Given the description of an element on the screen output the (x, y) to click on. 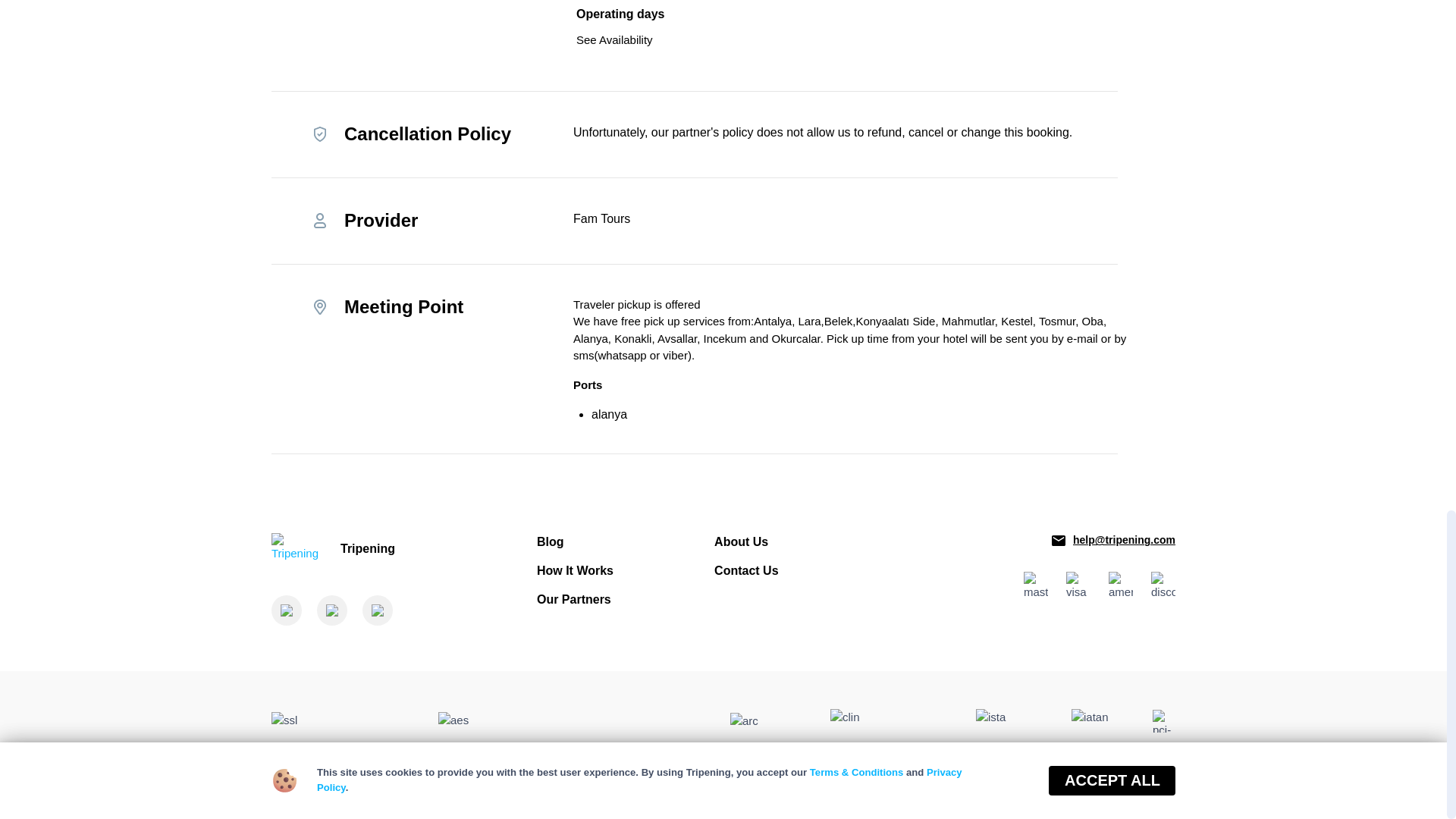
facebook (285, 610)
instagram (377, 610)
twitter (332, 610)
How It Works (574, 570)
Tripening (386, 549)
Contact Us (745, 570)
Our Partners (574, 599)
About Us (741, 541)
Blog (550, 541)
